Given the description of an element on the screen output the (x, y) to click on. 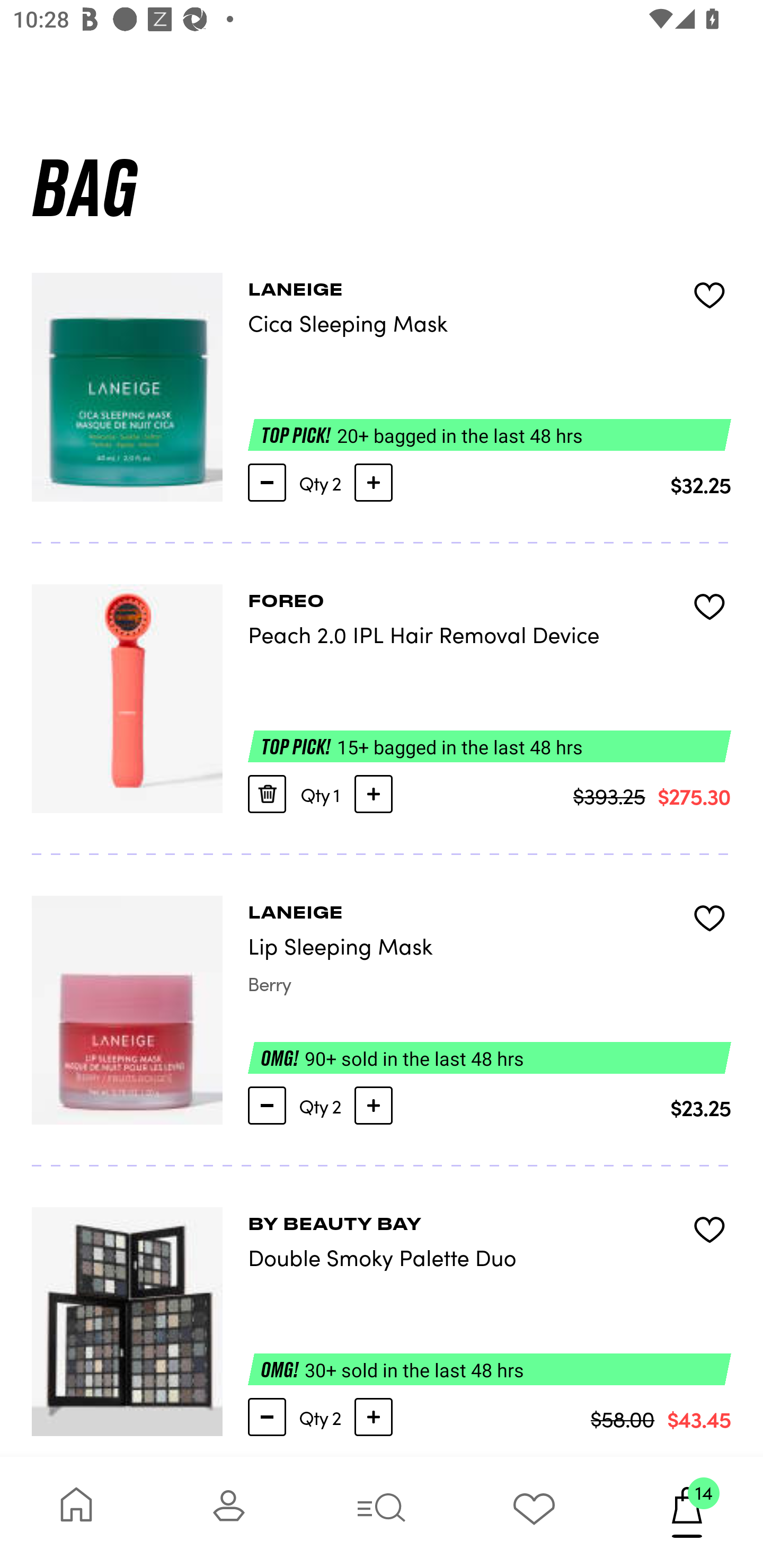
14 (686, 1512)
